Given the description of an element on the screen output the (x, y) to click on. 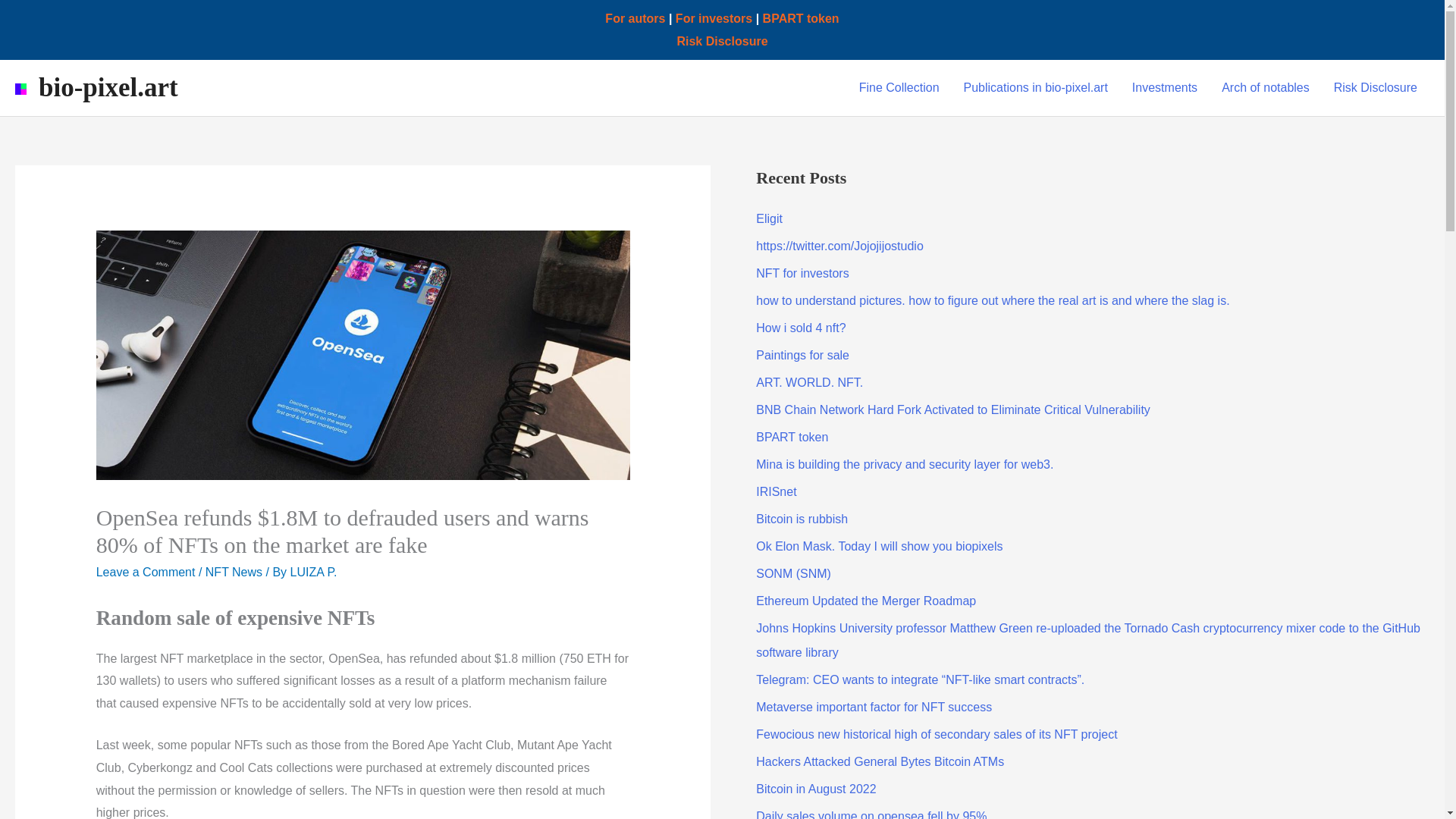
NFT News (233, 571)
For investors (713, 18)
Fine Collection (899, 87)
bio-pixel.art (108, 87)
How i sold 4 nft? (800, 327)
View all posts by LUIZA P. (313, 571)
Risk Disclosure (1375, 87)
LUIZA P. (313, 571)
For autors (635, 18)
